Given the description of an element on the screen output the (x, y) to click on. 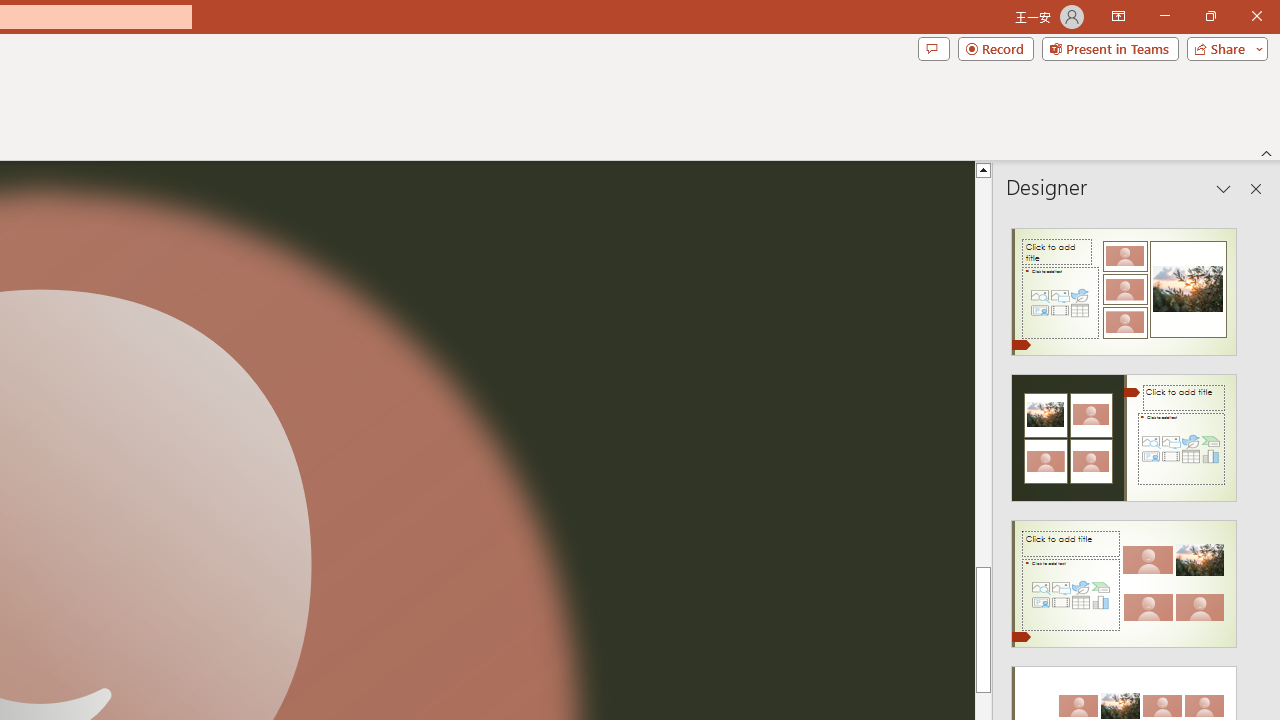
Close (1256, 16)
Collapse the Ribbon (1267, 152)
